Given the description of an element on the screen output the (x, y) to click on. 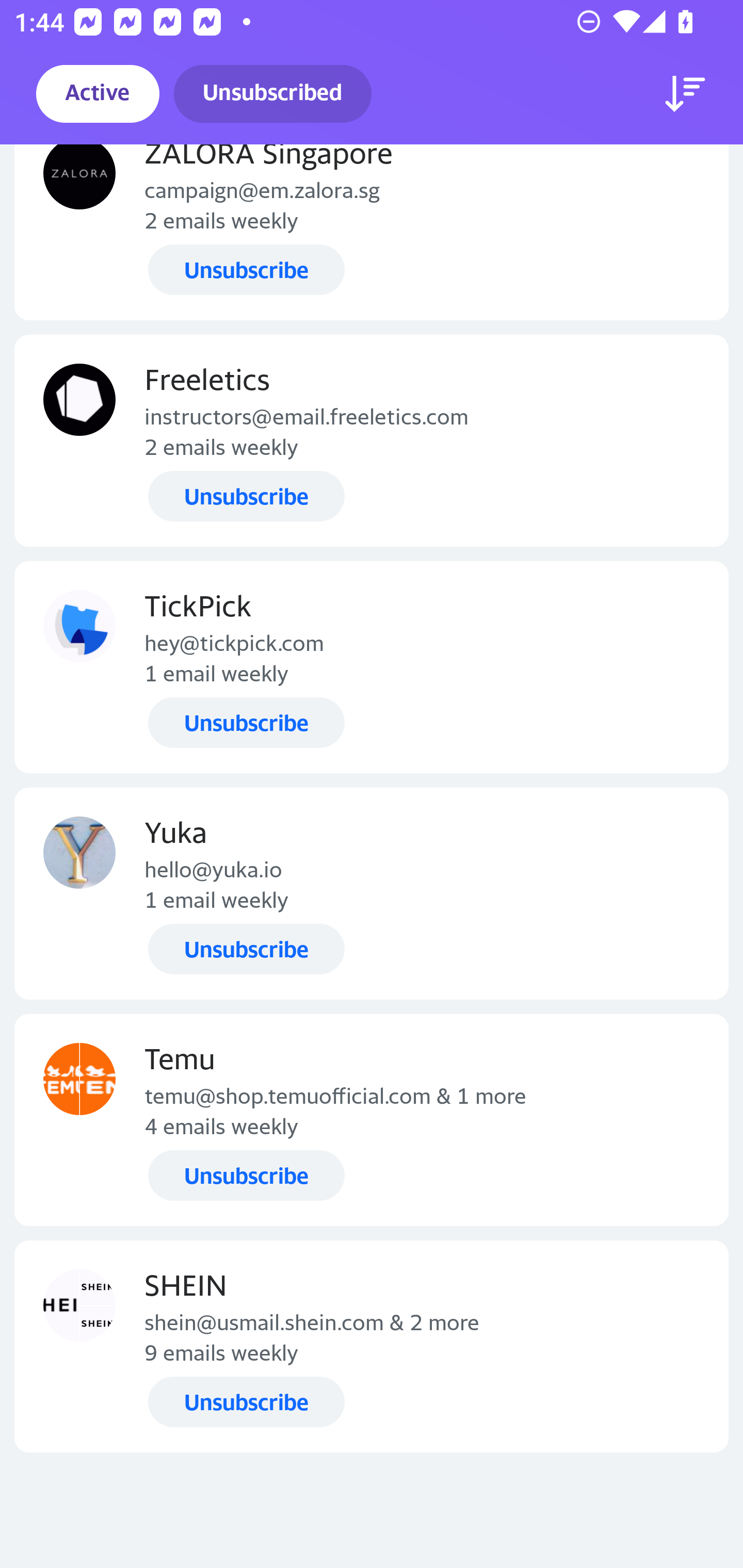
Unsubscribed (272, 93)
Sort (684, 93)
Unsubscribe (245, 269)
Unsubscribe (245, 496)
Unsubscribe (245, 722)
Yuka hello@yuka.io 1 email weekly Unsubscribe (371, 893)
Unsubscribe (245, 948)
Unsubscribe (245, 1175)
Unsubscribe (245, 1401)
